Given the description of an element on the screen output the (x, y) to click on. 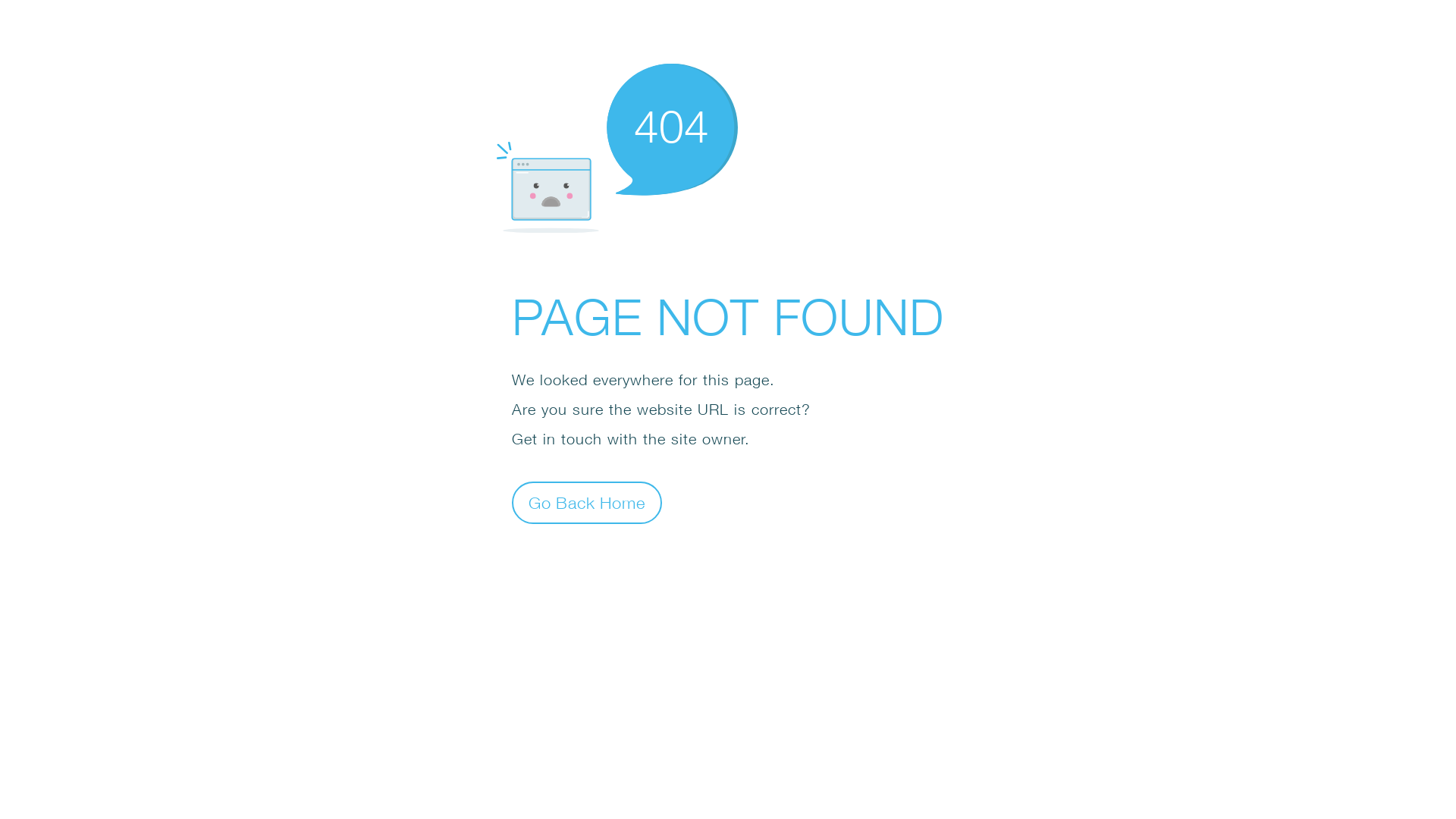
Go Back Home Element type: text (586, 502)
